Given the description of an element on the screen output the (x, y) to click on. 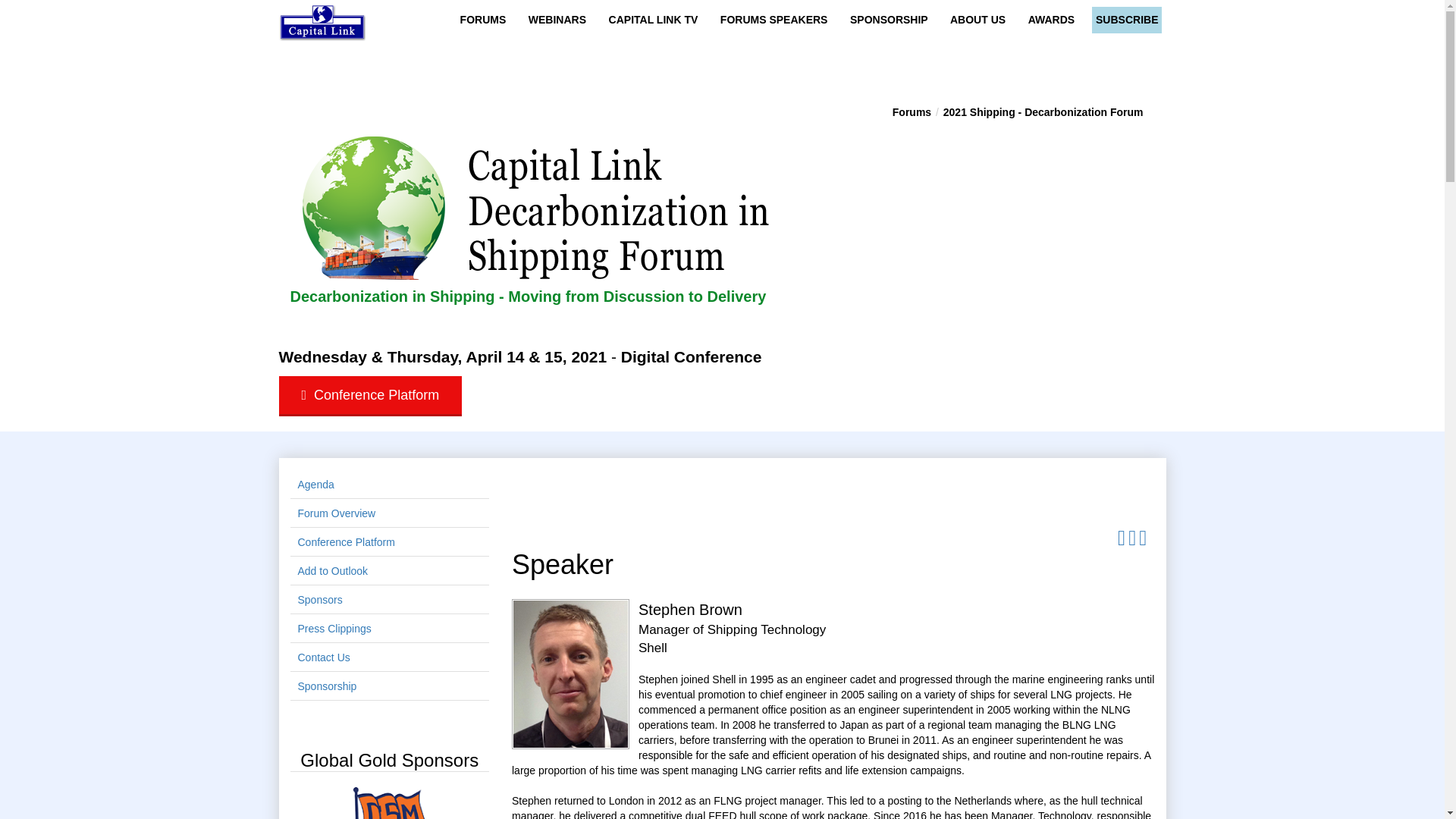
CAPITAL LINK TV    (657, 19)
WEBINARS    (561, 19)
FORUMS    (487, 19)
